Given the description of an element on the screen output the (x, y) to click on. 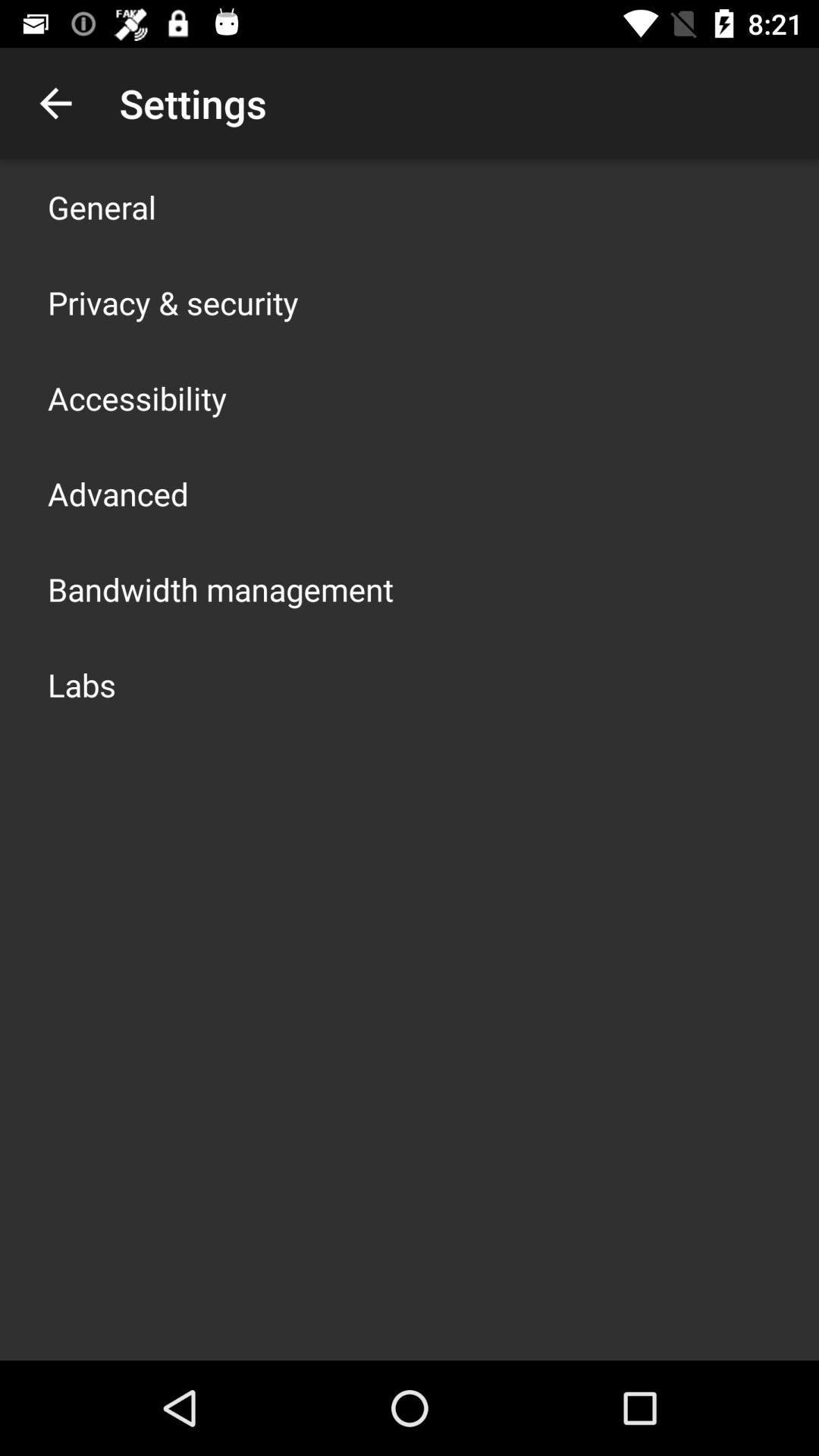
press labs app (81, 684)
